Given the description of an element on the screen output the (x, y) to click on. 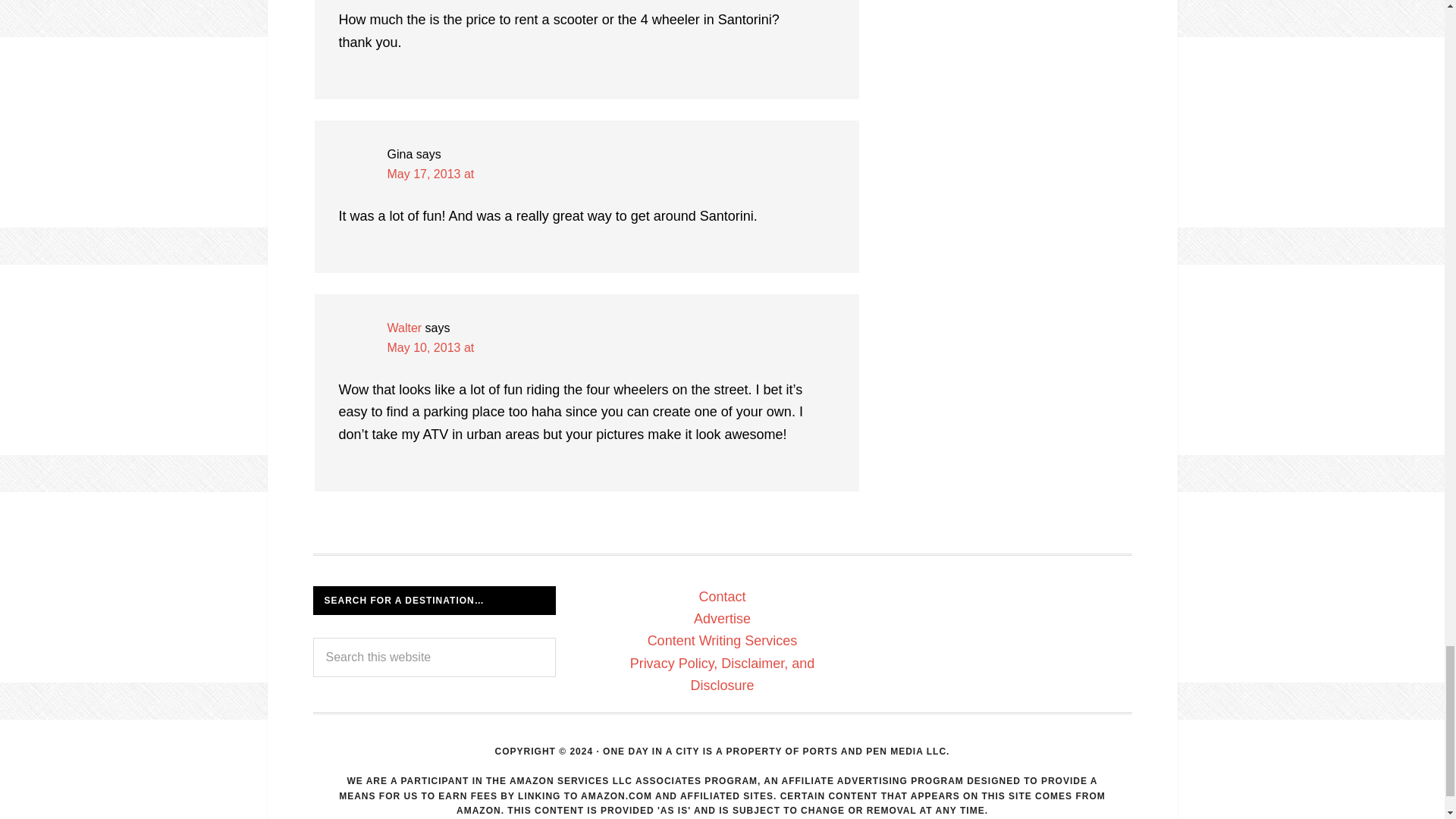
Privacy Policy, Disclaimer, and Disclosure (722, 674)
Content Writing Service (722, 640)
Advertise (722, 618)
Contact (721, 596)
